Given the description of an element on the screen output the (x, y) to click on. 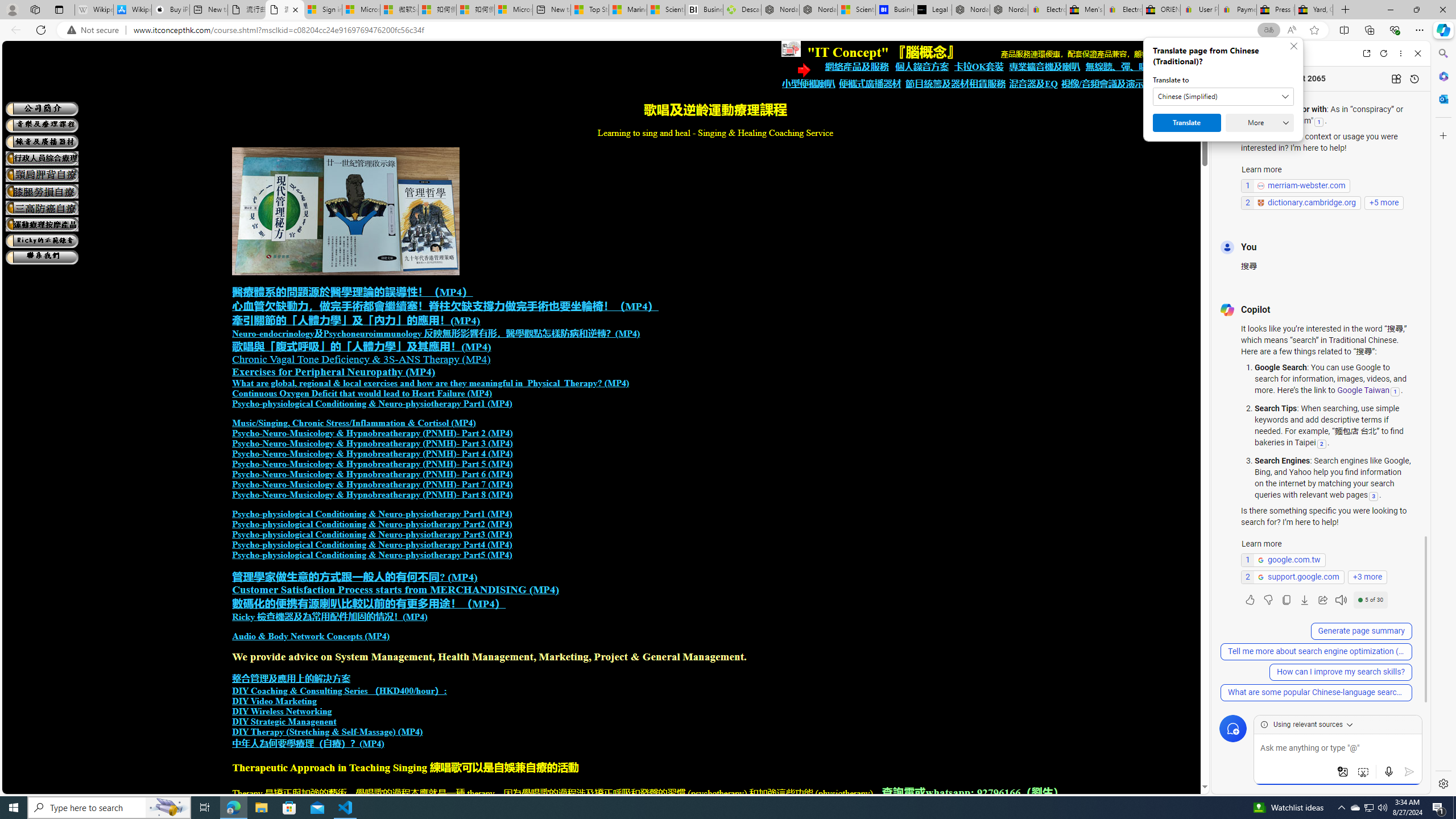
(MP4) (371, 743)
More (1259, 122)
